Given the description of an element on the screen output the (x, y) to click on. 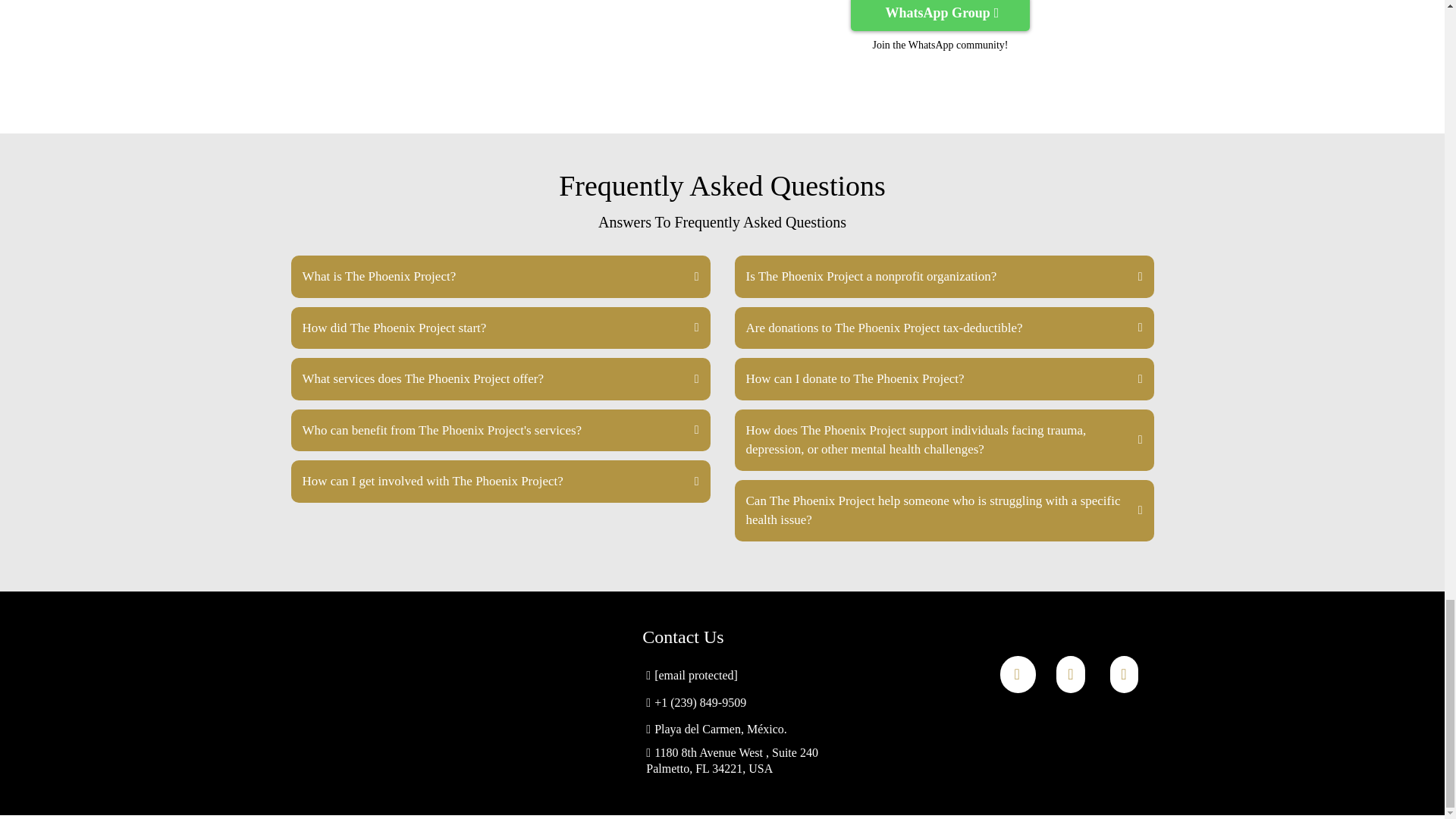
WhatsApp Group (940, 15)
